Given the description of an element on the screen output the (x, y) to click on. 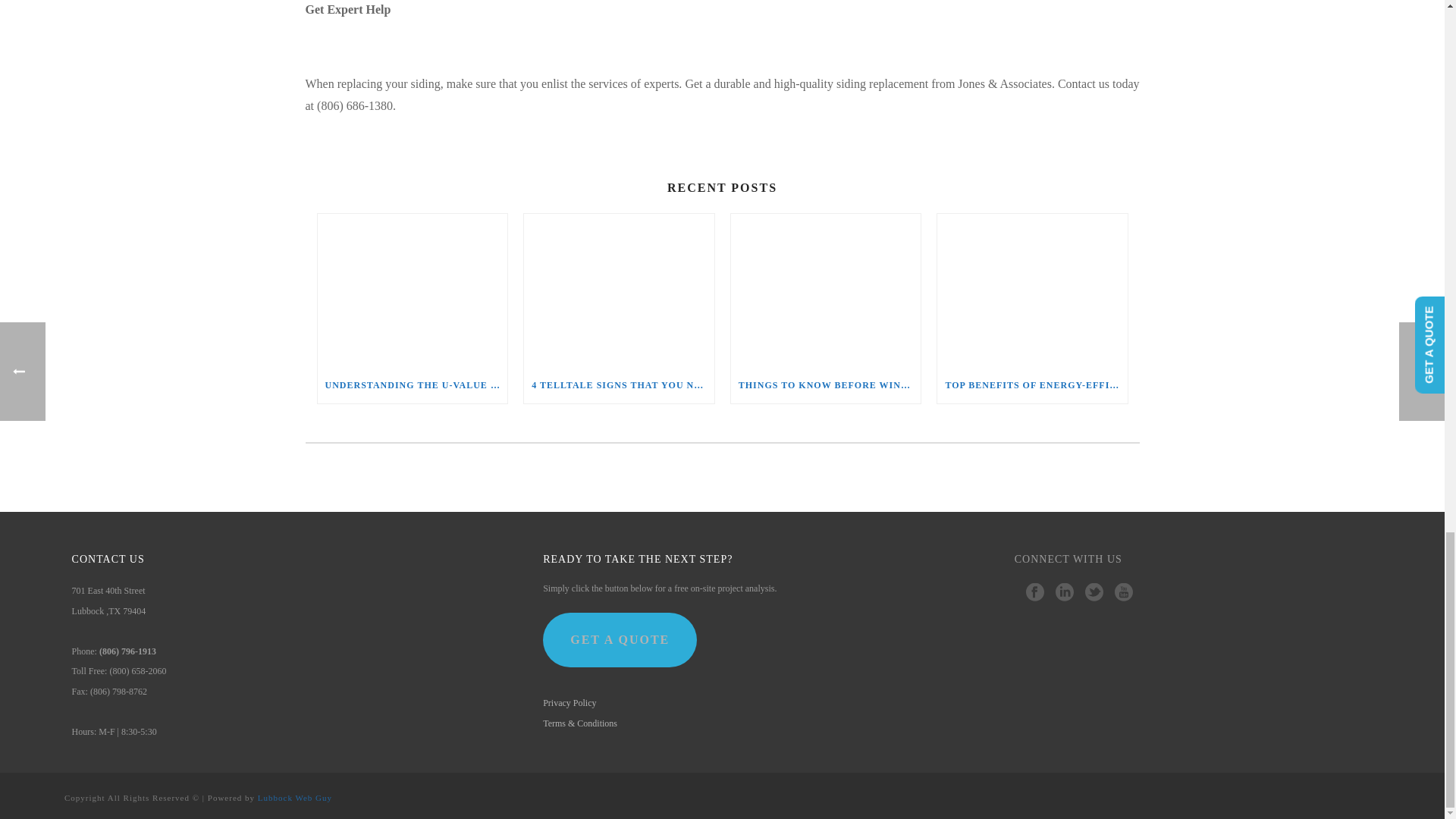
TOP BENEFITS OF ENERGY-EFFICIENT REPLACEMENT WINDOWS (1031, 384)
4 TELLTALE SIGNS THAT YOU NEED NEW SIDING (619, 384)
Top Benefits of Energy-Efficient Replacement Windows (1031, 289)
Follow Us on linkedin (1064, 592)
Understanding the U-Value of a Window Assembly (411, 289)
UNDERSTANDING THE U-VALUE OF A WINDOW ASSEMBLY (411, 384)
Things to Know Before Window Installation Day (825, 289)
Privacy Policy (569, 702)
THINGS TO KNOW BEFORE WINDOW INSTALLATION DAY (825, 384)
GET A QUOTE (620, 639)
Follow Us on facebook (1034, 592)
Follow Us on youtube (1123, 592)
GET A QUOTE (620, 639)
4 Telltale Signs That You Need New Siding (619, 289)
Follow Us on twitter (1093, 592)
